Given the description of an element on the screen output the (x, y) to click on. 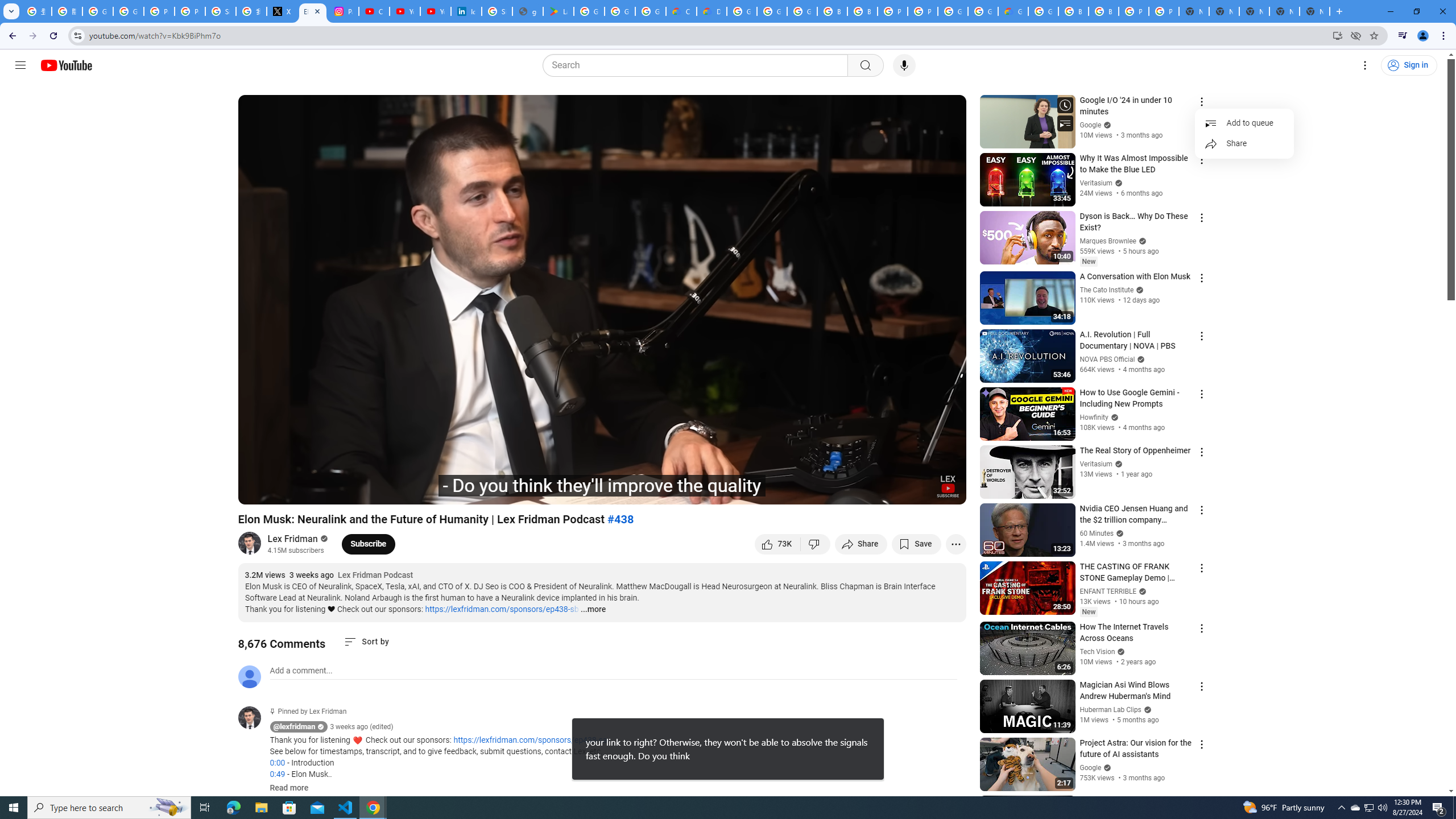
Subtitles/closed captions unavailable (836, 490)
#438 (620, 519)
Dislike this video (815, 543)
like this video along with 73,133 other people (777, 543)
Customer Care | Google Cloud (681, 11)
